Given the description of an element on the screen output the (x, y) to click on. 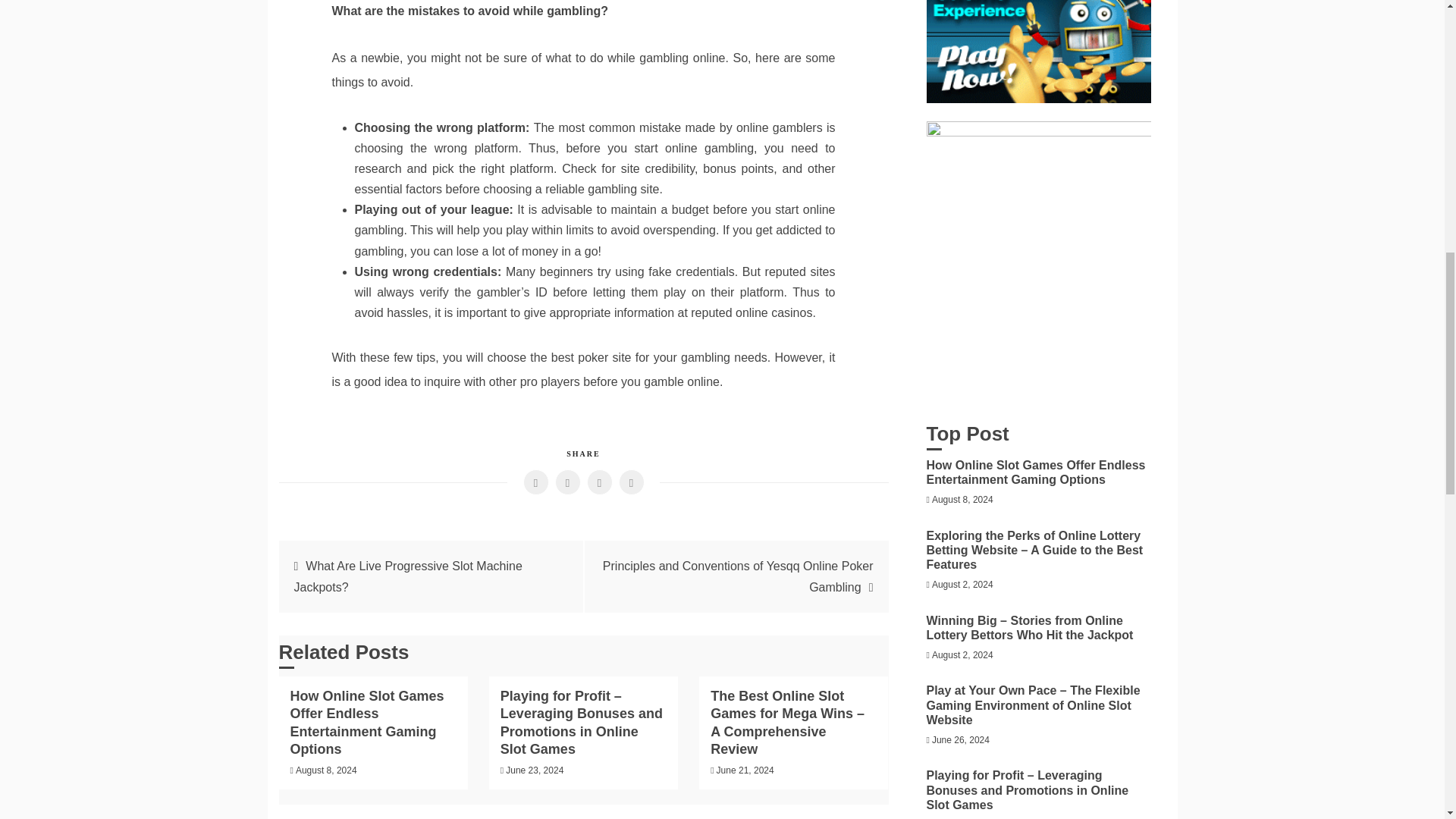
June 23, 2024 (534, 769)
June 21, 2024 (745, 769)
August 8, 2024 (961, 499)
What Are Live Progressive Slot Machine Jackpots? (408, 575)
Principles and Conventions of Yesqq Online Poker Gambling (737, 575)
August 2, 2024 (961, 584)
August 8, 2024 (325, 769)
